Given the description of an element on the screen output the (x, y) to click on. 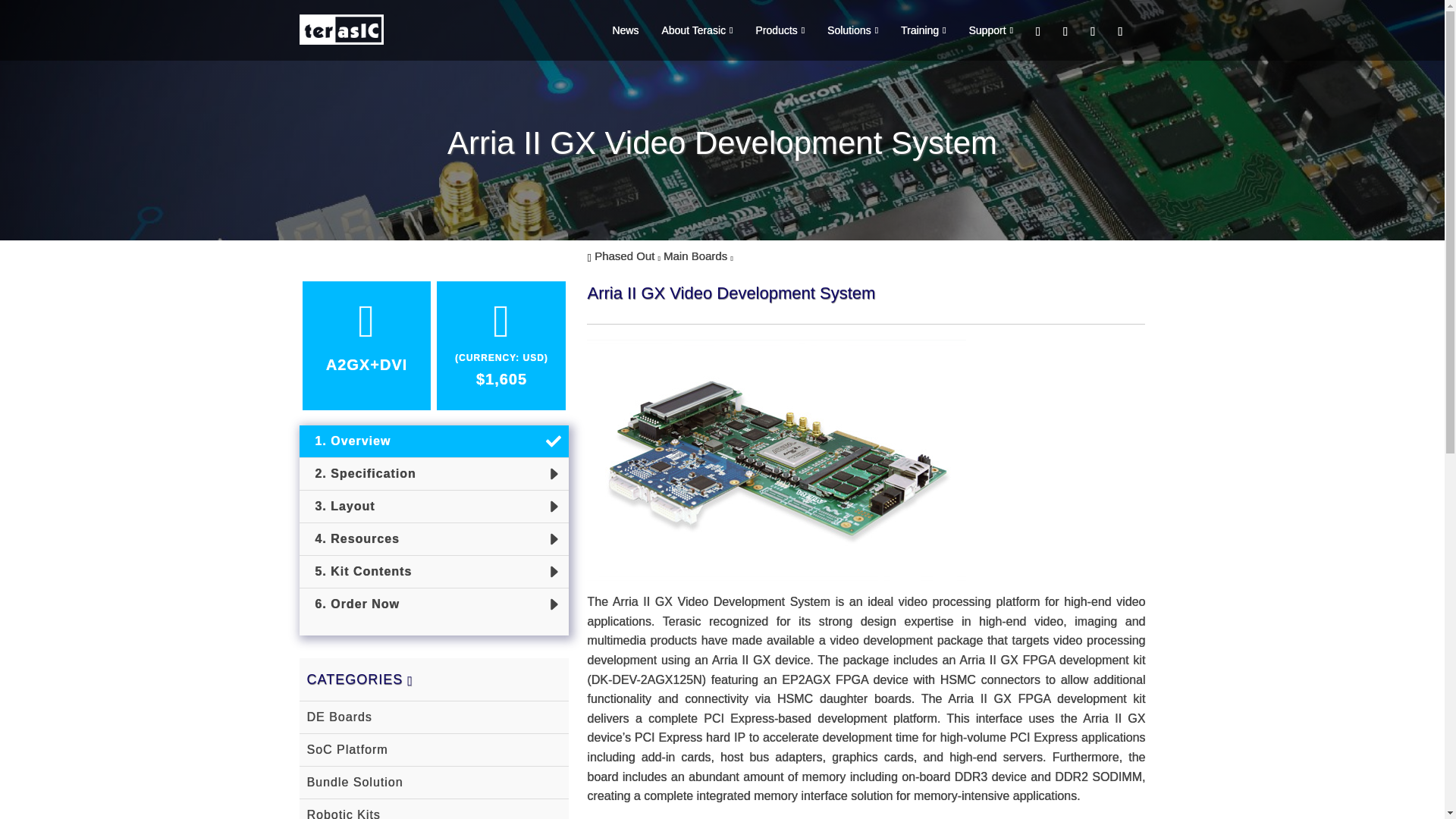
Training (910, 29)
Support (979, 29)
About Terasic (685, 29)
Solutions (841, 29)
News (614, 29)
News (614, 29)
Products (768, 29)
